Given the description of an element on the screen output the (x, y) to click on. 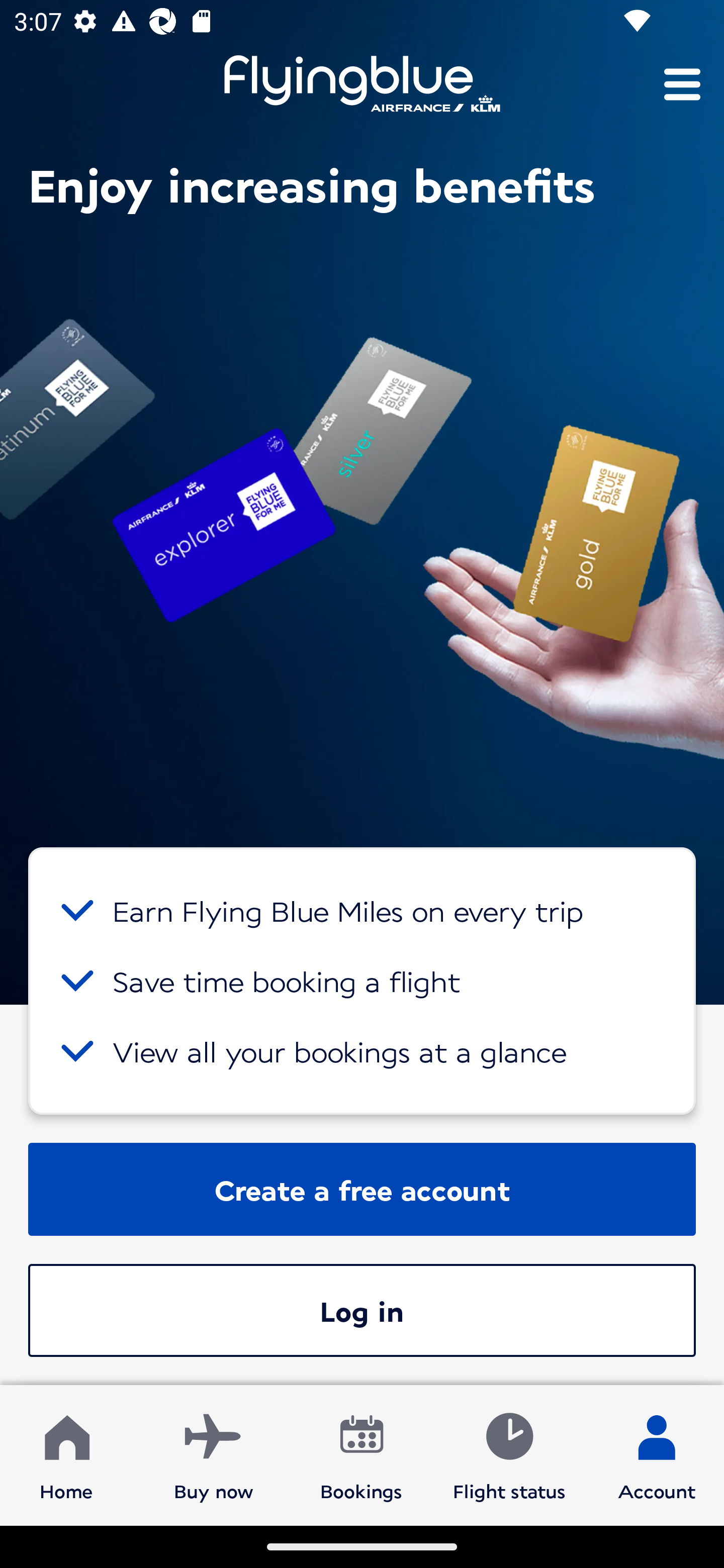
Create a free account (361, 1189)
Log in (361, 1309)
Home (66, 1454)
Buy now (213, 1454)
Bookings (361, 1454)
Flight status (509, 1454)
